Given the description of an element on the screen output the (x, y) to click on. 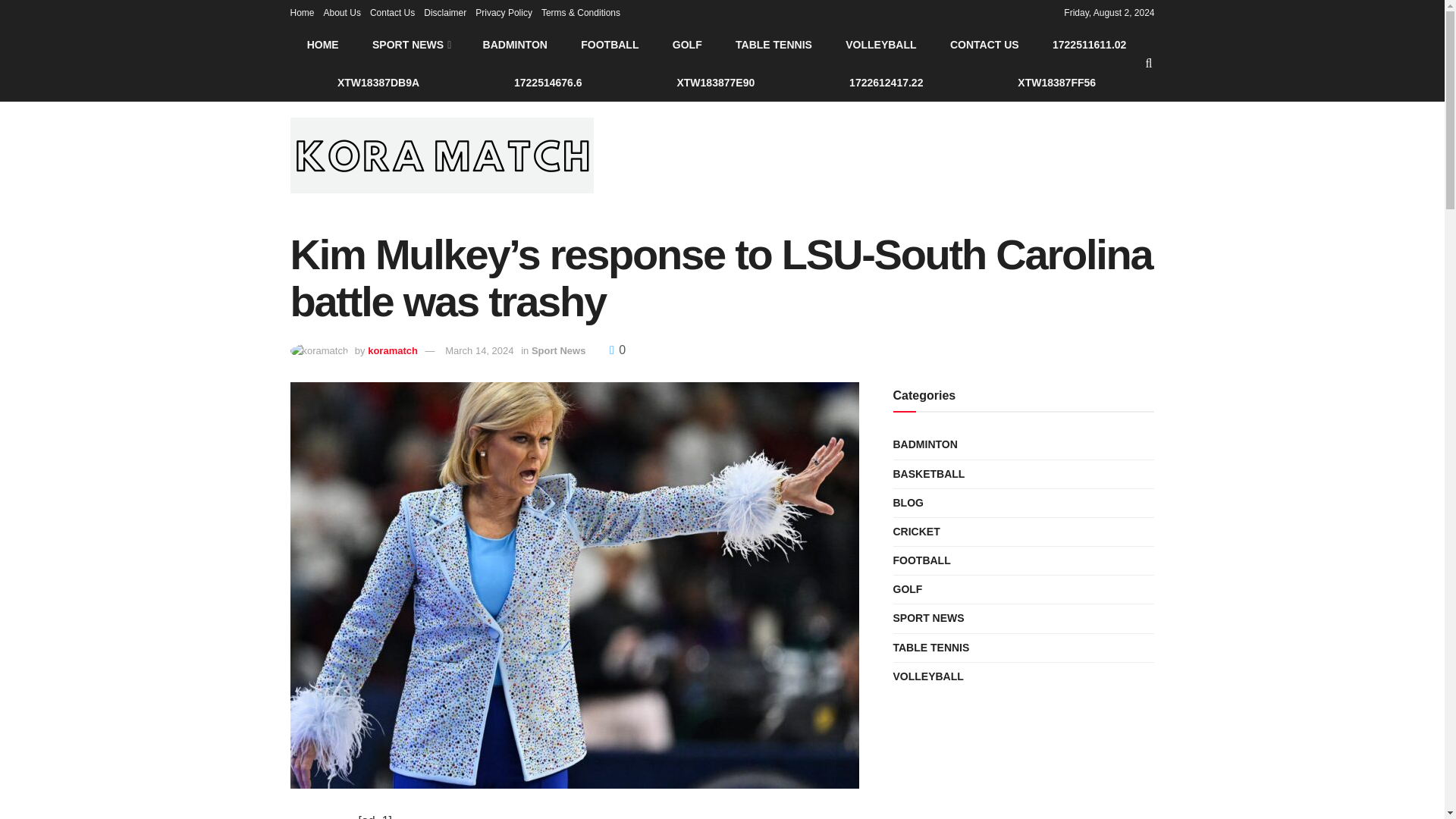
SPORT NEWS (410, 44)
Privacy Policy (504, 12)
1722511611.02 (1088, 44)
Disclaimer (444, 12)
1722514676.6 (547, 82)
FOOTBALL (610, 44)
HOME (322, 44)
VOLLEYBALL (880, 44)
Contact Us (391, 12)
CONTACT US (984, 44)
